Given the description of an element on the screen output the (x, y) to click on. 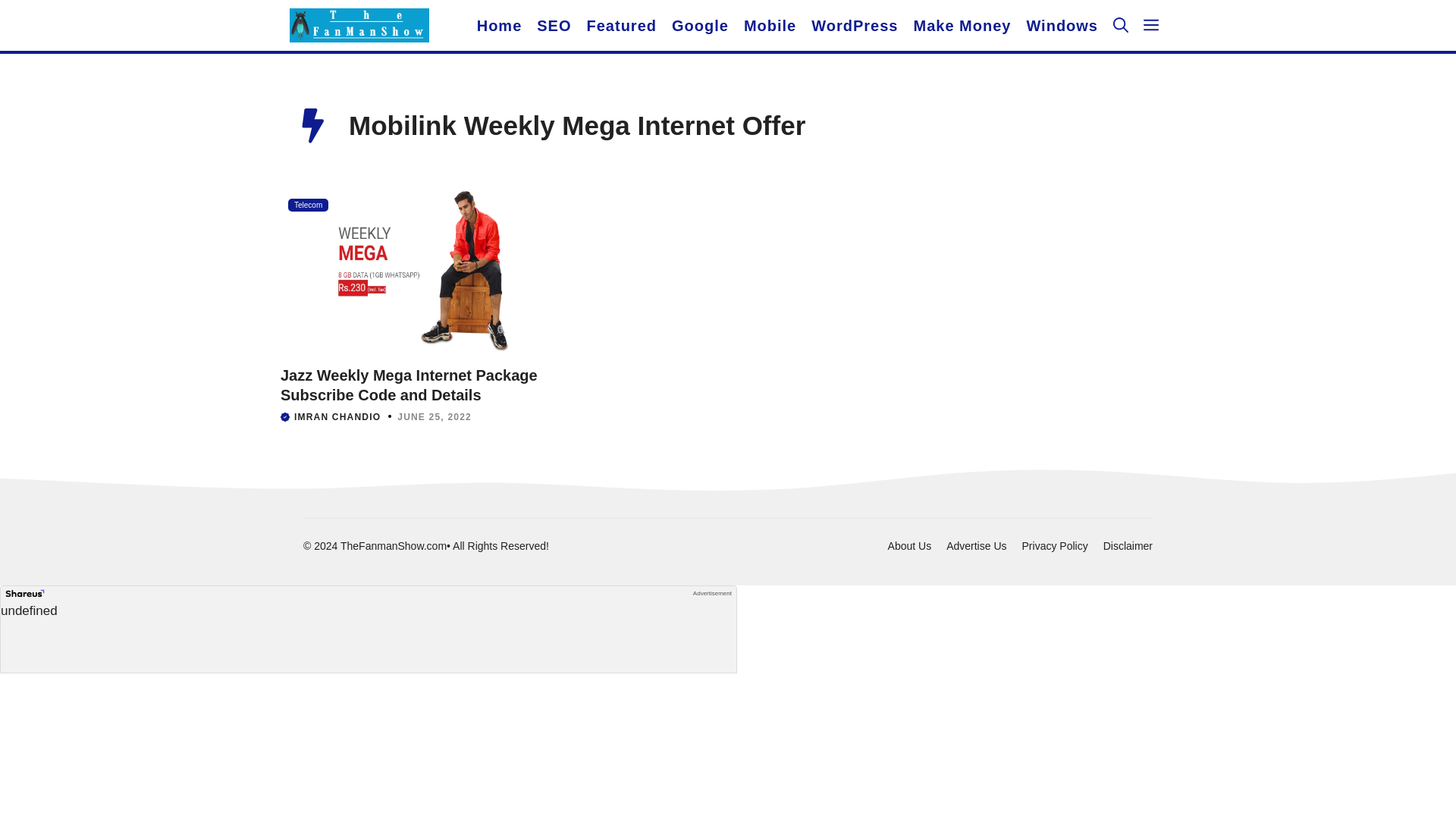
Mobile (769, 25)
WordPress (854, 25)
About Us (909, 545)
Windows (1061, 25)
IMRAN CHANDIO (337, 416)
Telecom (308, 205)
The Fanman Show (359, 24)
Featured (621, 25)
Disclaimer (1128, 545)
Jazz Weekly Mega Internet Package Subscribe Code and Details (409, 384)
